Given the description of an element on the screen output the (x, y) to click on. 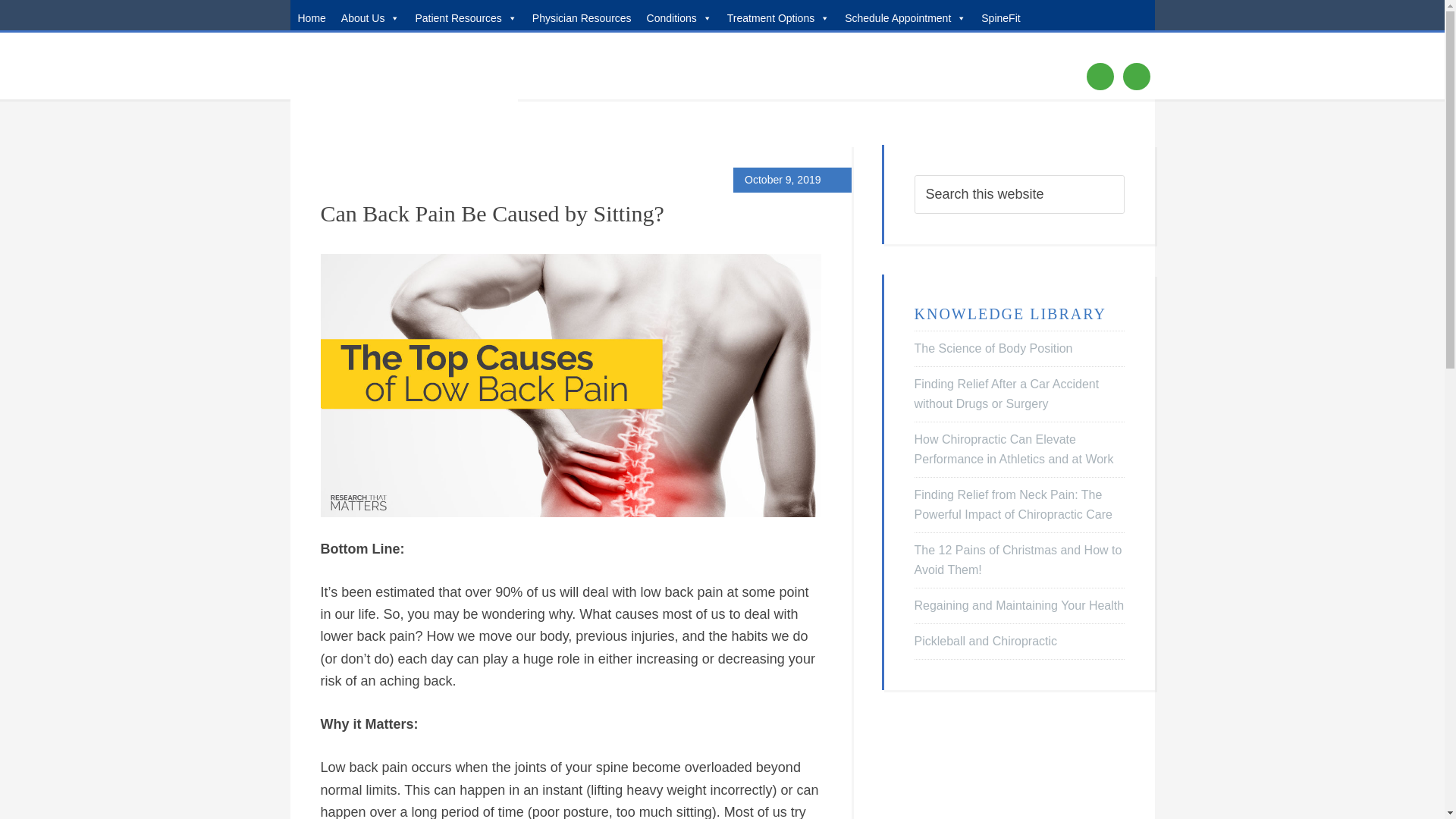
Treatment Options (778, 15)
Patient Resources (465, 15)
Conditions (679, 15)
Schedule Appointment (905, 15)
Physician Resources (581, 15)
SpineFit (1000, 15)
HUNTSVILLE, MADISON, ALABAMA CHIROPRACTOR (402, 70)
Home (311, 15)
About Us (370, 15)
